Given the description of an element on the screen output the (x, y) to click on. 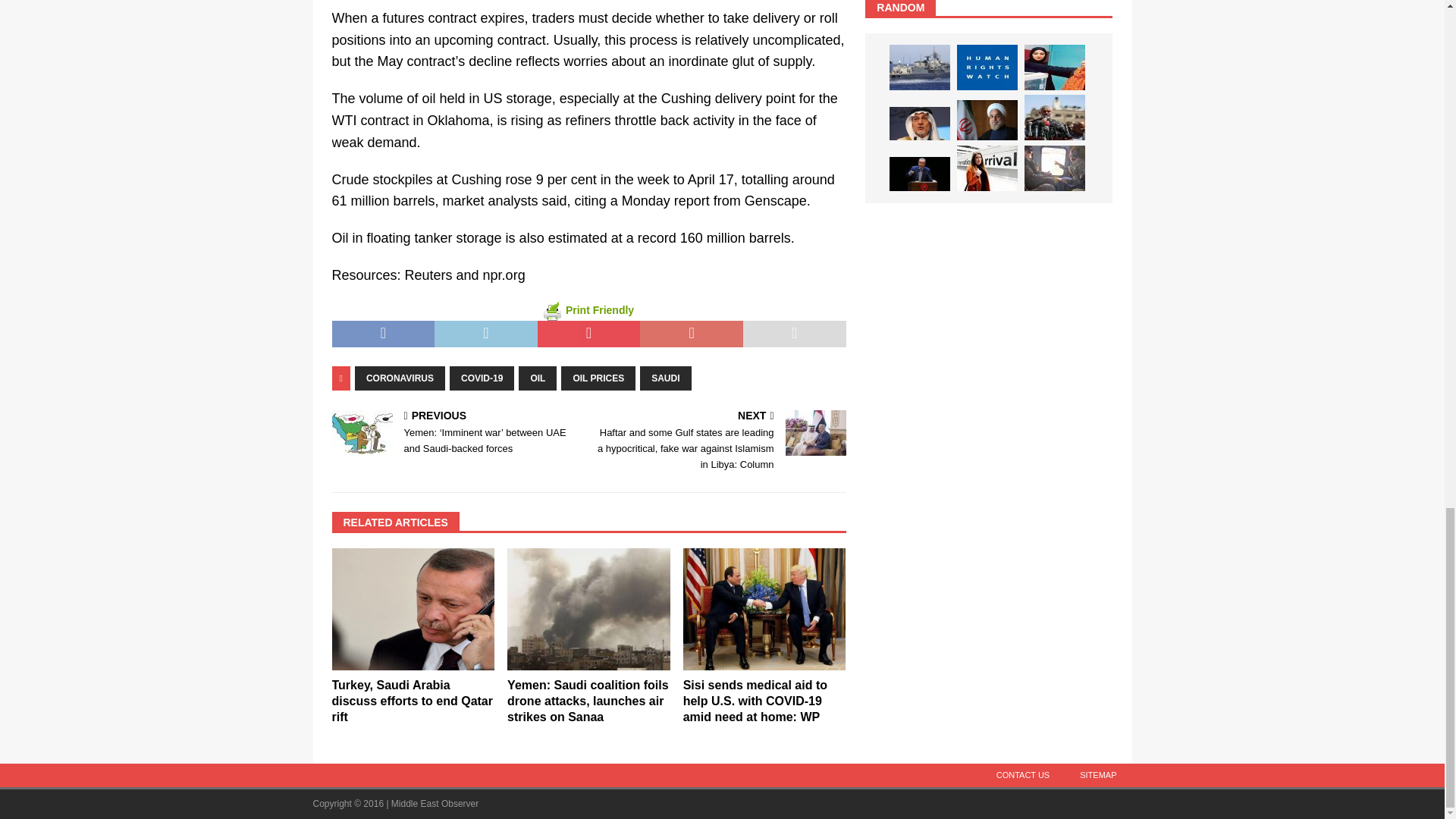
Turkey, Saudi Arabia discuss efforts to end Qatar rift (413, 608)
